Given the description of an element on the screen output the (x, y) to click on. 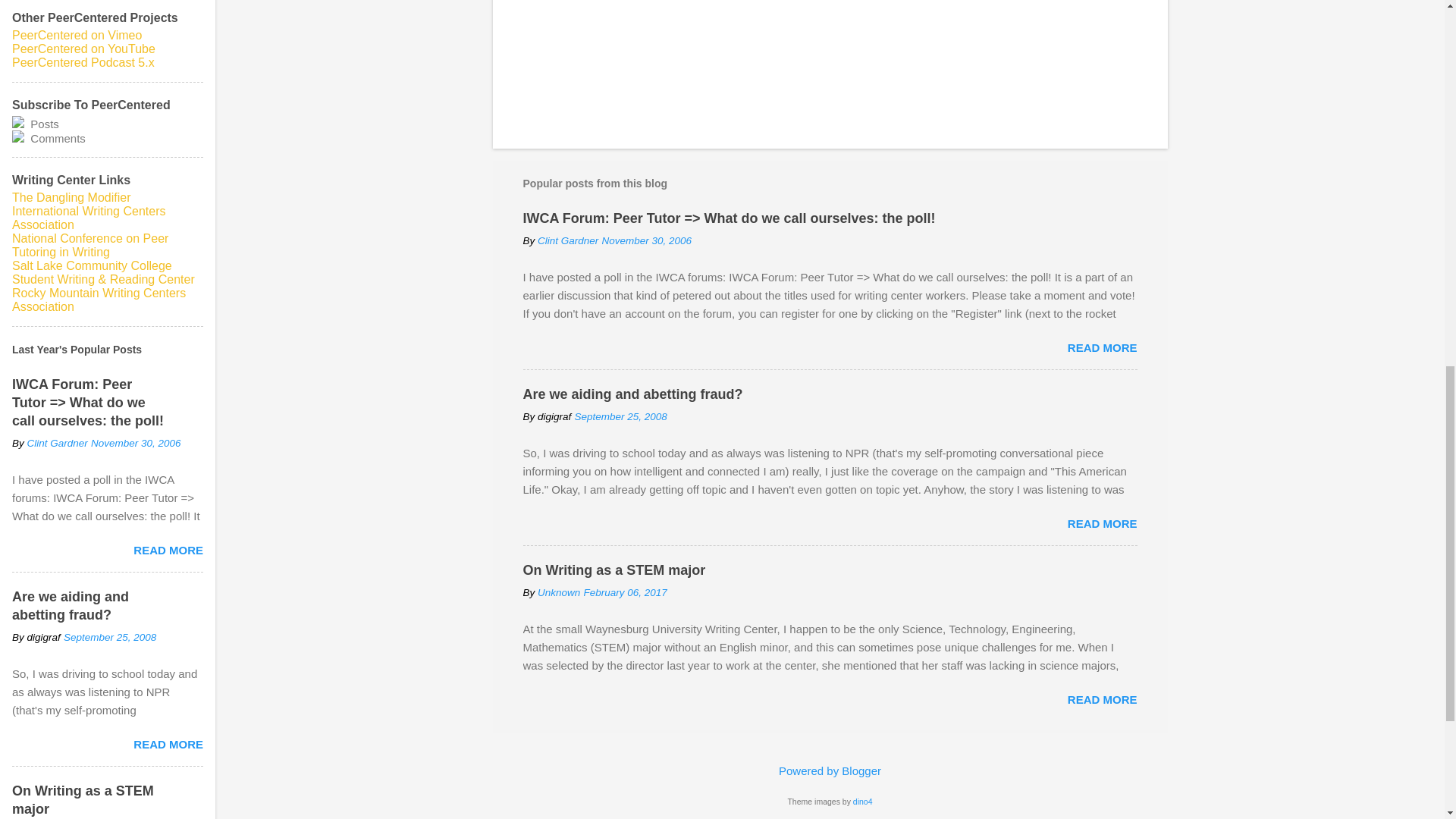
Powered by Blogger (829, 770)
READ MORE (1102, 698)
Unknown (558, 592)
Are we aiding and abetting fraud? (632, 394)
September 25, 2008 (619, 416)
November 30, 2006 (646, 240)
February 06, 2017 (624, 592)
On Writing as a STEM major (614, 570)
READ MORE (1102, 522)
dino4 (862, 800)
Clint Gardner (567, 240)
READ MORE (1102, 347)
